Given the description of an element on the screen output the (x, y) to click on. 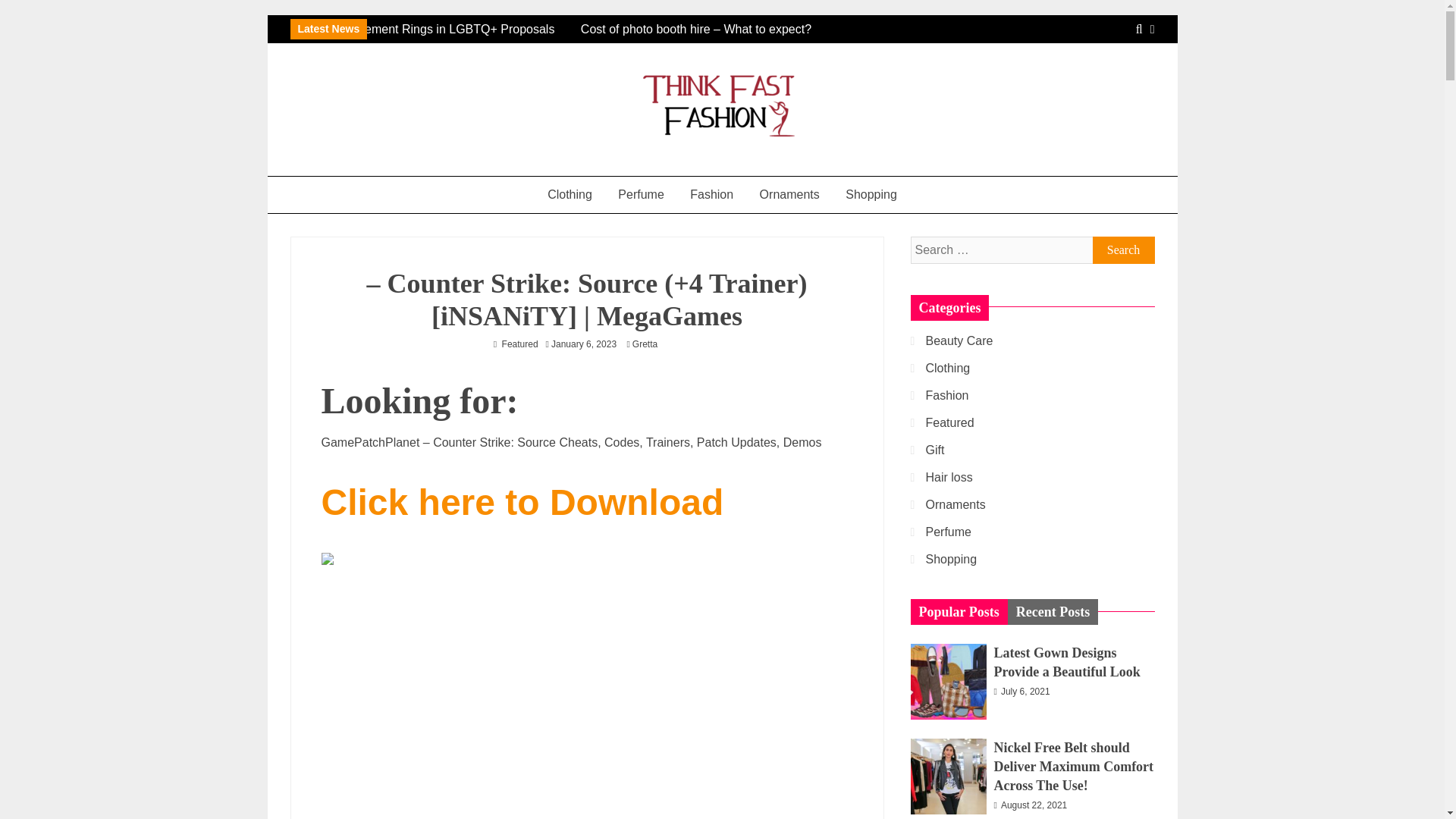
January 6, 2023 (583, 344)
Featured (520, 344)
Think Fast Fashion (402, 169)
Shopping (871, 194)
Fashion (711, 194)
Search (1123, 249)
Gretta (648, 344)
Search (1123, 249)
Click here to Download (522, 510)
Perfume (641, 194)
Clothing (569, 194)
Ornaments (789, 194)
